Given the description of an element on the screen output the (x, y) to click on. 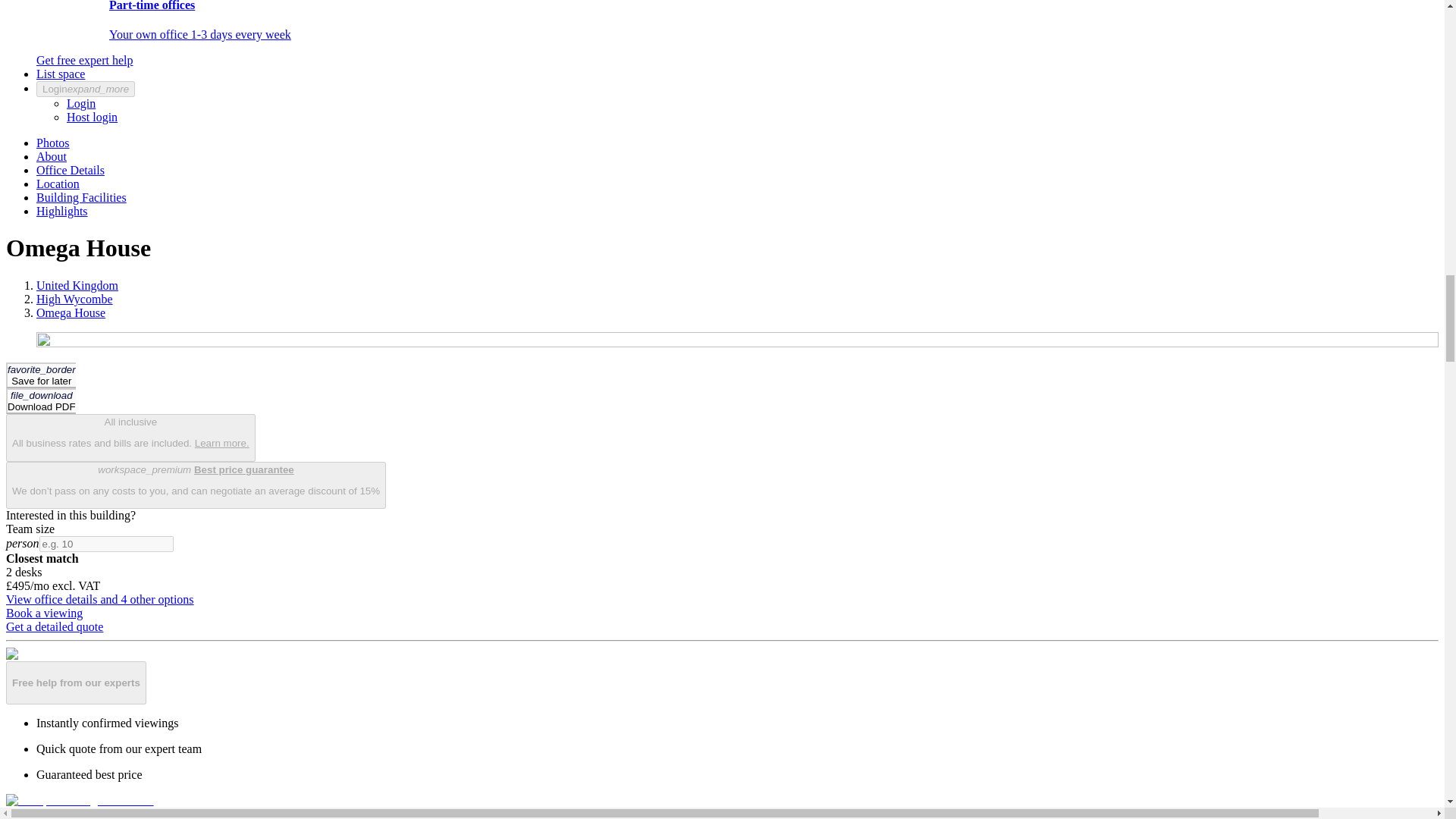
Part-time offices (178, 27)
Add office to shortlists! (40, 375)
open Login menu (85, 89)
